Given the description of an element on the screen output the (x, y) to click on. 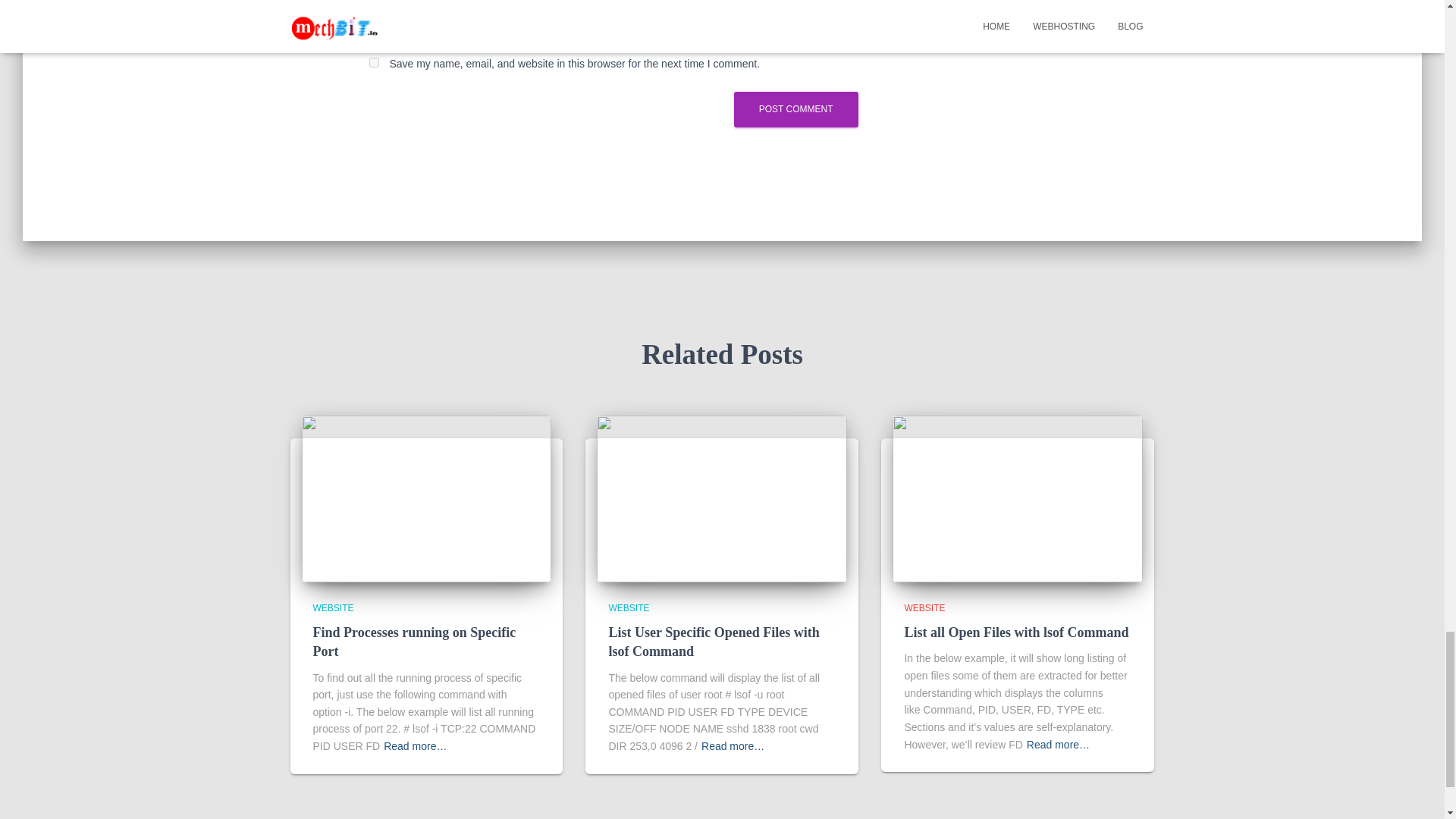
Post Comment (796, 109)
Post Comment (796, 109)
yes (373, 62)
